Given the description of an element on the screen output the (x, y) to click on. 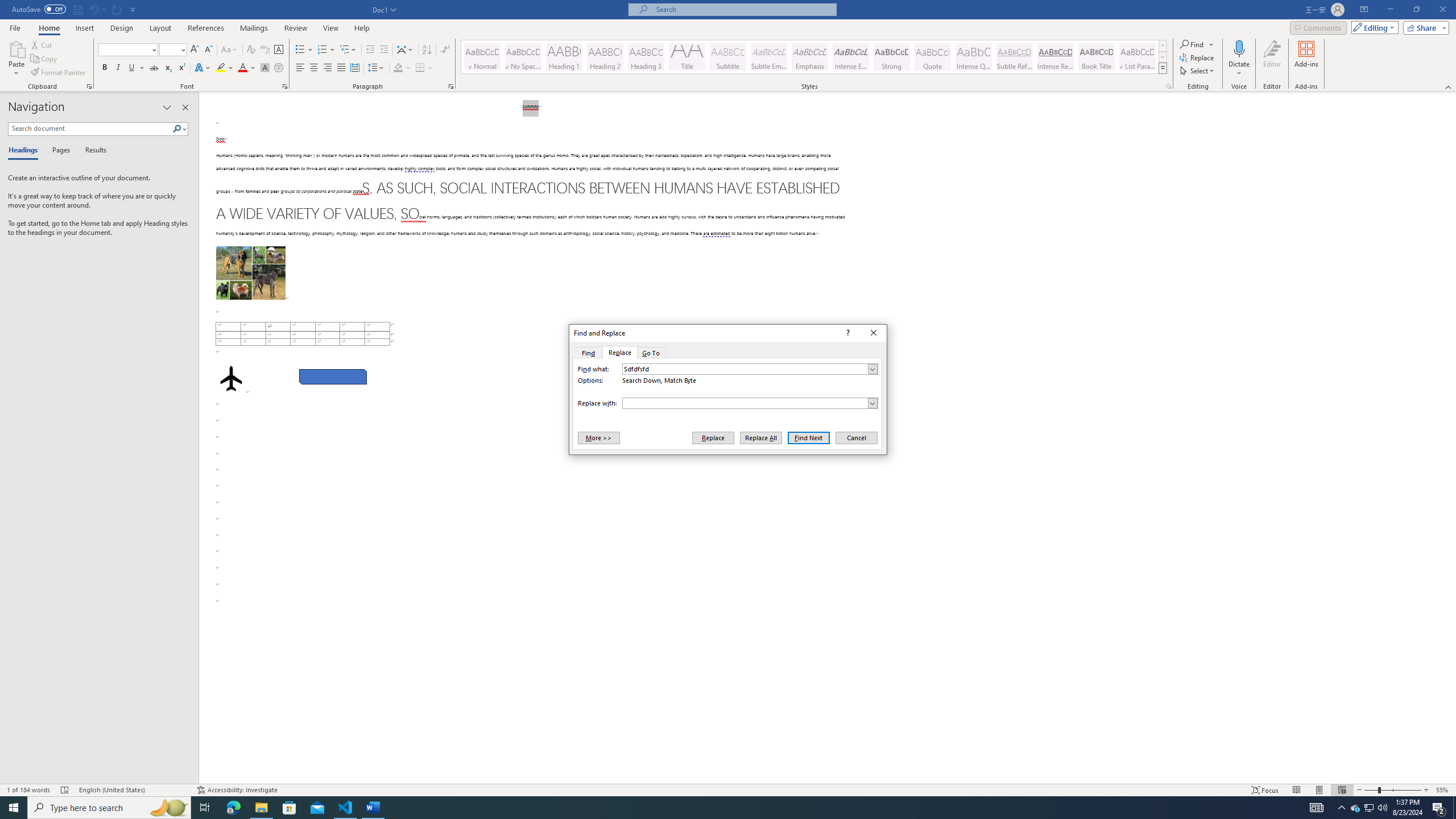
Phonetic Guide... (264, 49)
Book Title (1095, 56)
Bold (104, 67)
Superscript (180, 67)
More >> (598, 437)
Zoom 55% (1443, 790)
Undo Paragraph Alignment (92, 9)
Find what: (749, 369)
Language English (United States) (132, 790)
AutomationID: 4105 (1316, 807)
